Given the description of an element on the screen output the (x, y) to click on. 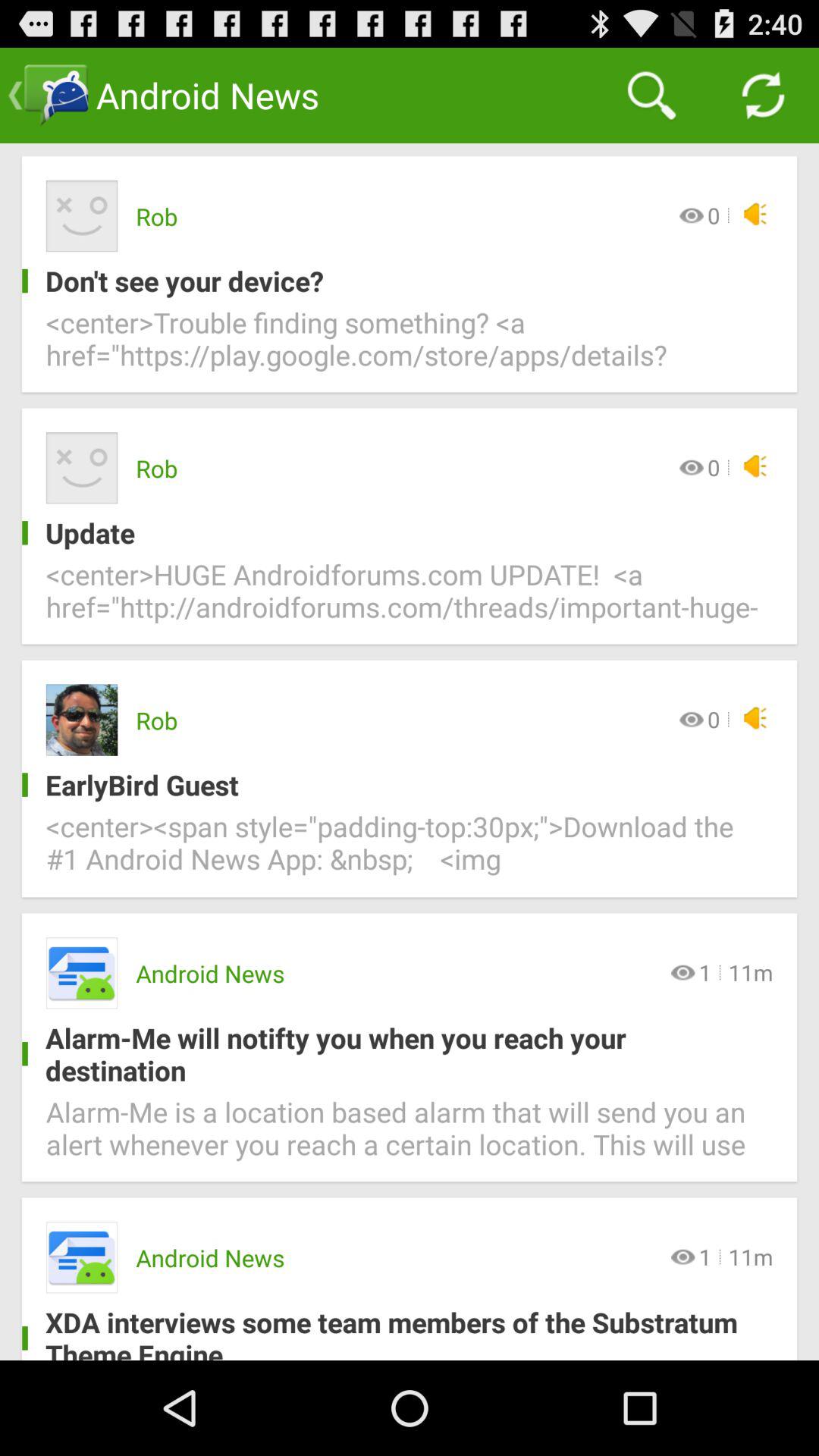
turn off the center huge androidforums item (409, 599)
